Given the description of an element on the screen output the (x, y) to click on. 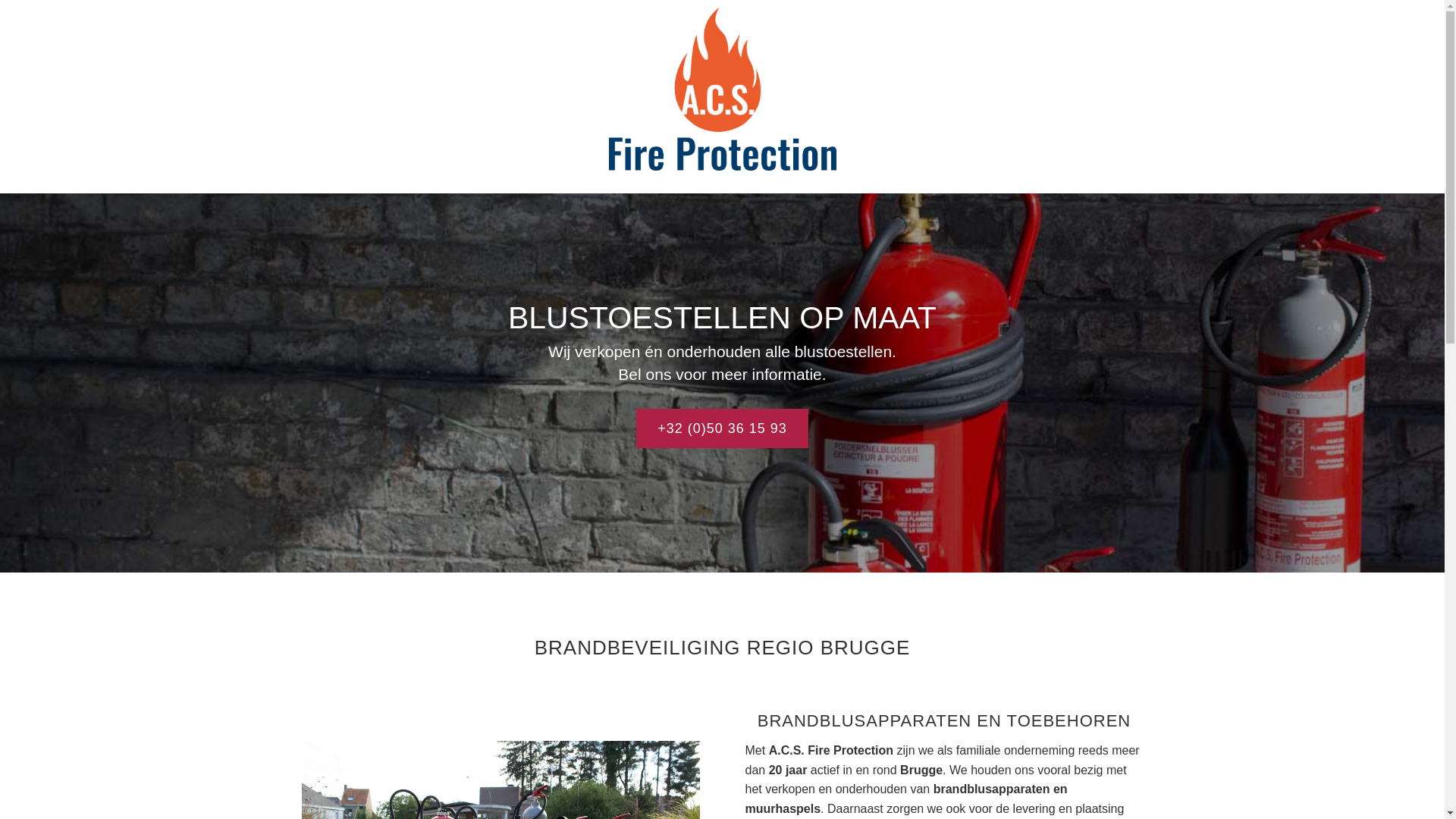
+32 (0)50 36 15 93 Element type: text (722, 428)
